Given the description of an element on the screen output the (x, y) to click on. 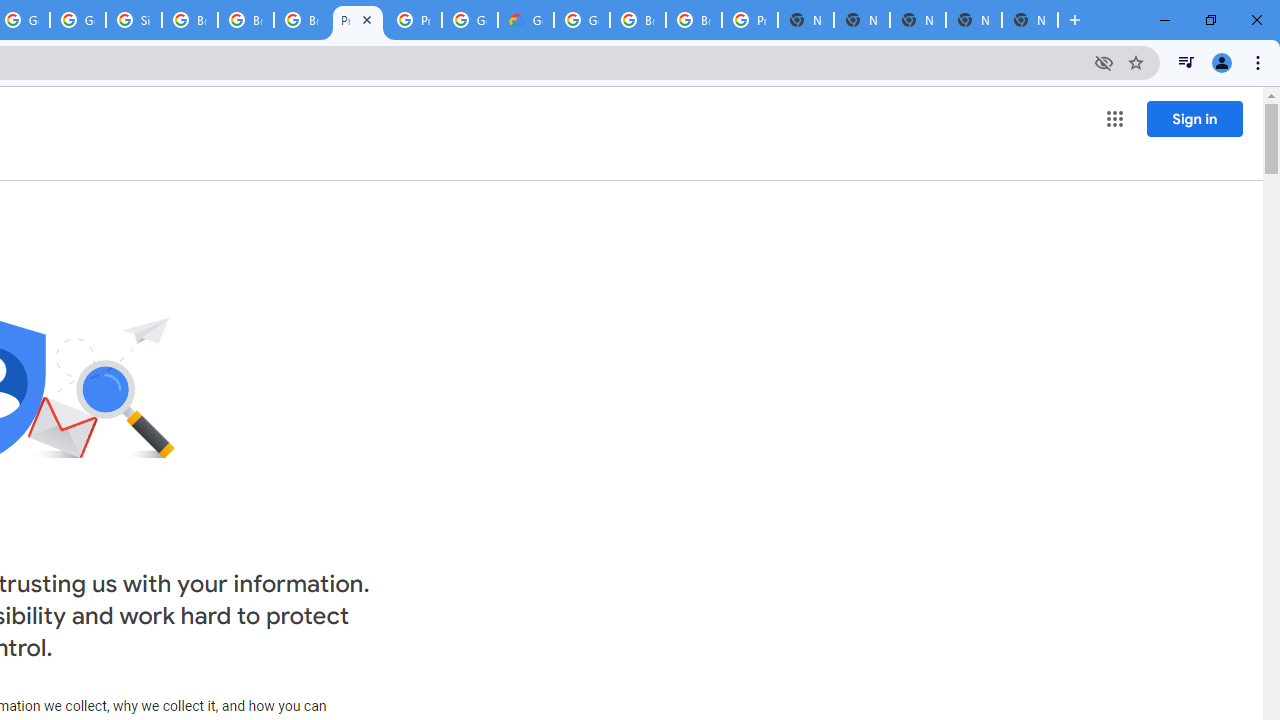
Google apps (1114, 118)
Google Cloud Estimate Summary (525, 20)
Google Cloud Platform (582, 20)
Control your music, videos, and more (1185, 62)
Browse Chrome as a guest - Computer - Google Chrome Help (637, 20)
Browse Chrome as a guest - Computer - Google Chrome Help (189, 20)
Browse Chrome as a guest - Computer - Google Chrome Help (693, 20)
Google Cloud Platform (469, 20)
Browse Chrome as a guest - Computer - Google Chrome Help (245, 20)
New Tab (1030, 20)
